Given the description of an element on the screen output the (x, y) to click on. 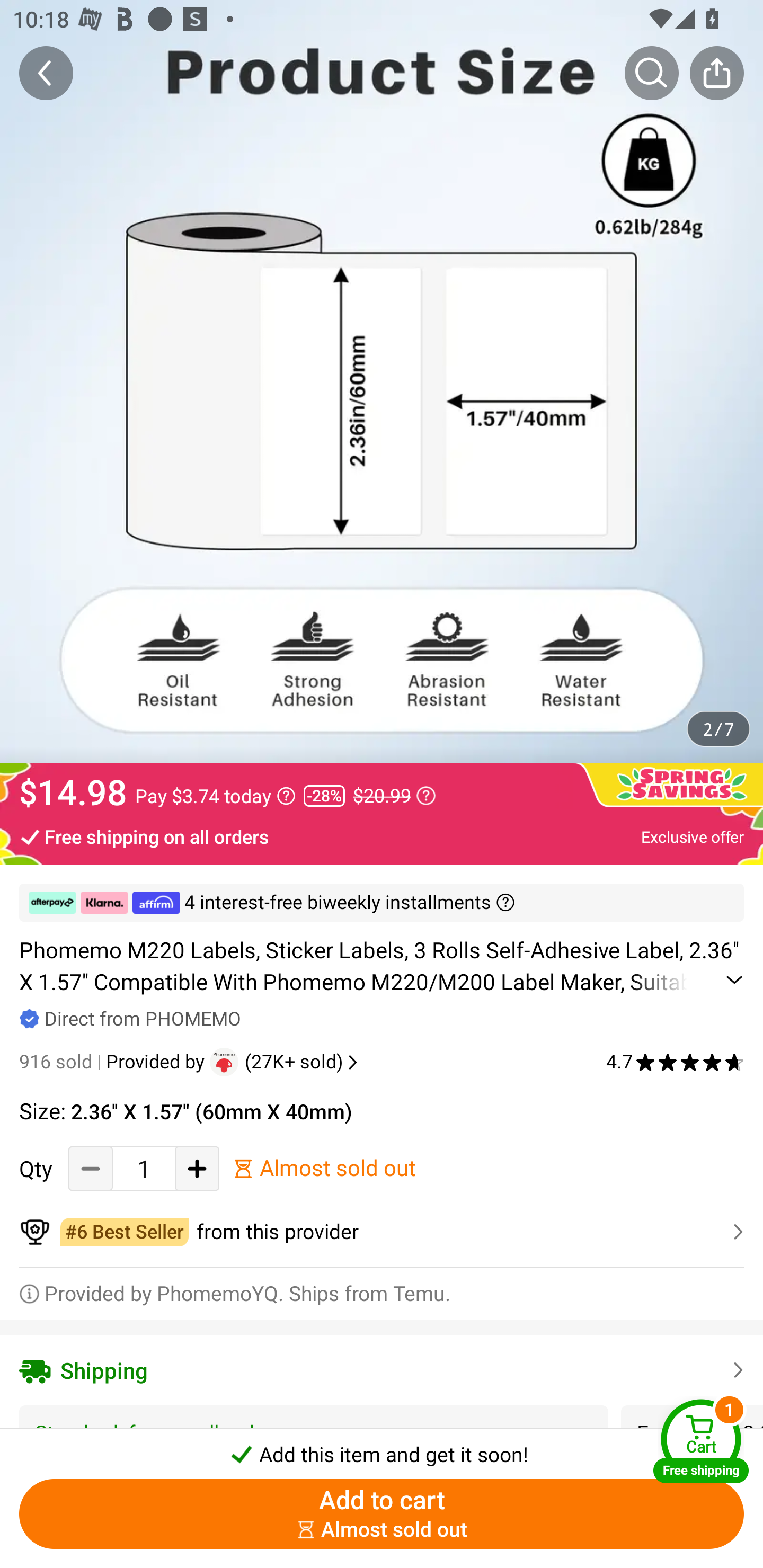
Back (46, 72)
Share (716, 72)
Pay $3.74 today   (215, 795)
Free shipping on all orders Exclusive offer (381, 836)
￼ ￼ ￼ 4 interest-free biweekly installments ￼ (381, 902)
916 sold Provided by  (114, 1061)
4.7 (674, 1061)
Decrease Quantity Button (90, 1168)
1 (143, 1168)
Add Quantity button (196, 1168)
￼￼from this provider (381, 1231)
Shipping (381, 1369)
Cart Free shipping Cart (701, 1440)
￼￼Add this item and get it soon!  (381, 1448)
Add to cart ￼￼Almost sold out (381, 1513)
